Given the description of an element on the screen output the (x, y) to click on. 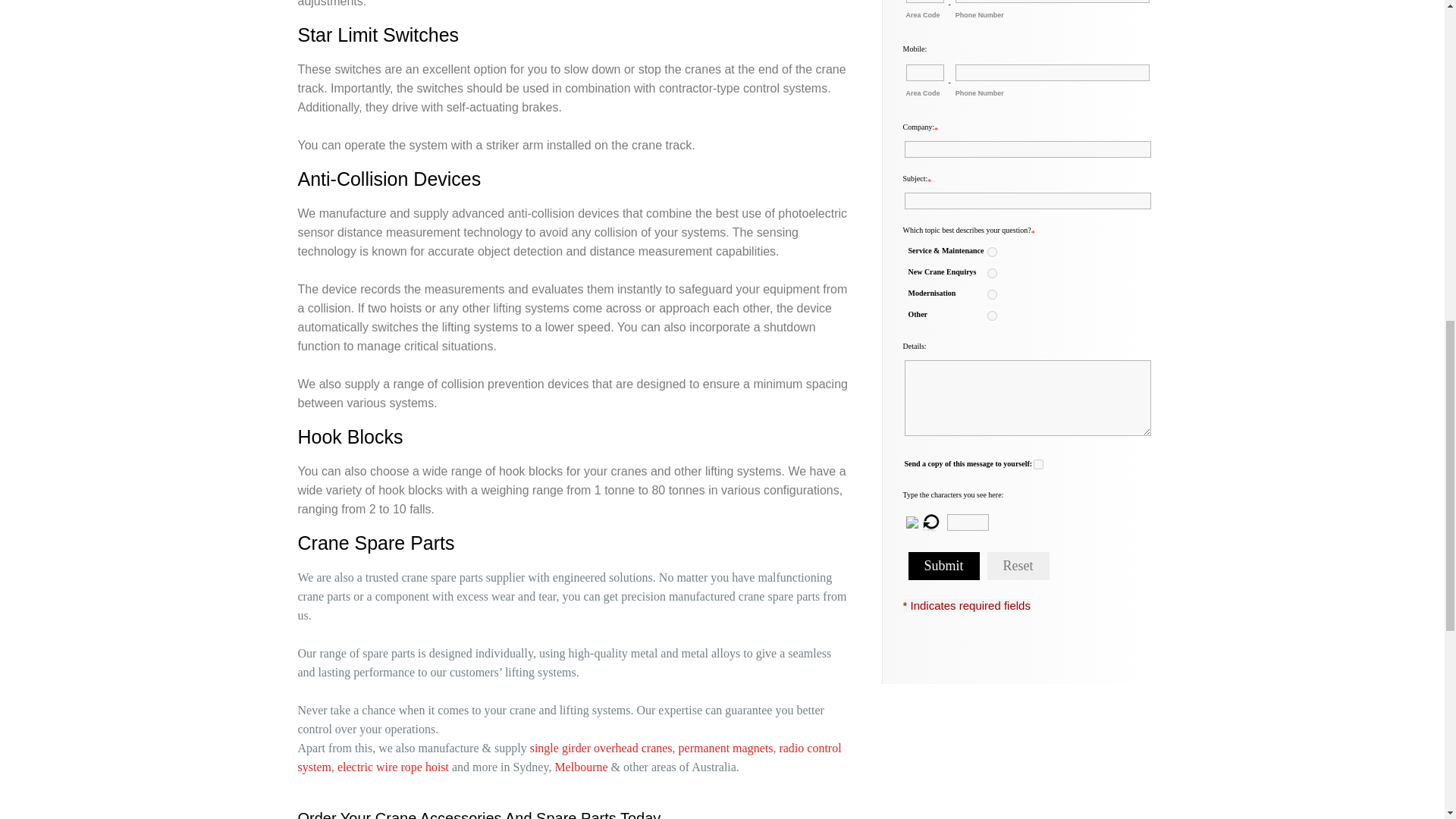
New Crane Enquirys (992, 273)
radio control system (569, 757)
Modernisation (992, 294)
Melbourne (580, 766)
single girder overhead cranes (600, 748)
permanent magnets (725, 748)
Other (992, 316)
on (1038, 464)
electric wire rope hoist (392, 766)
